Given the description of an element on the screen output the (x, y) to click on. 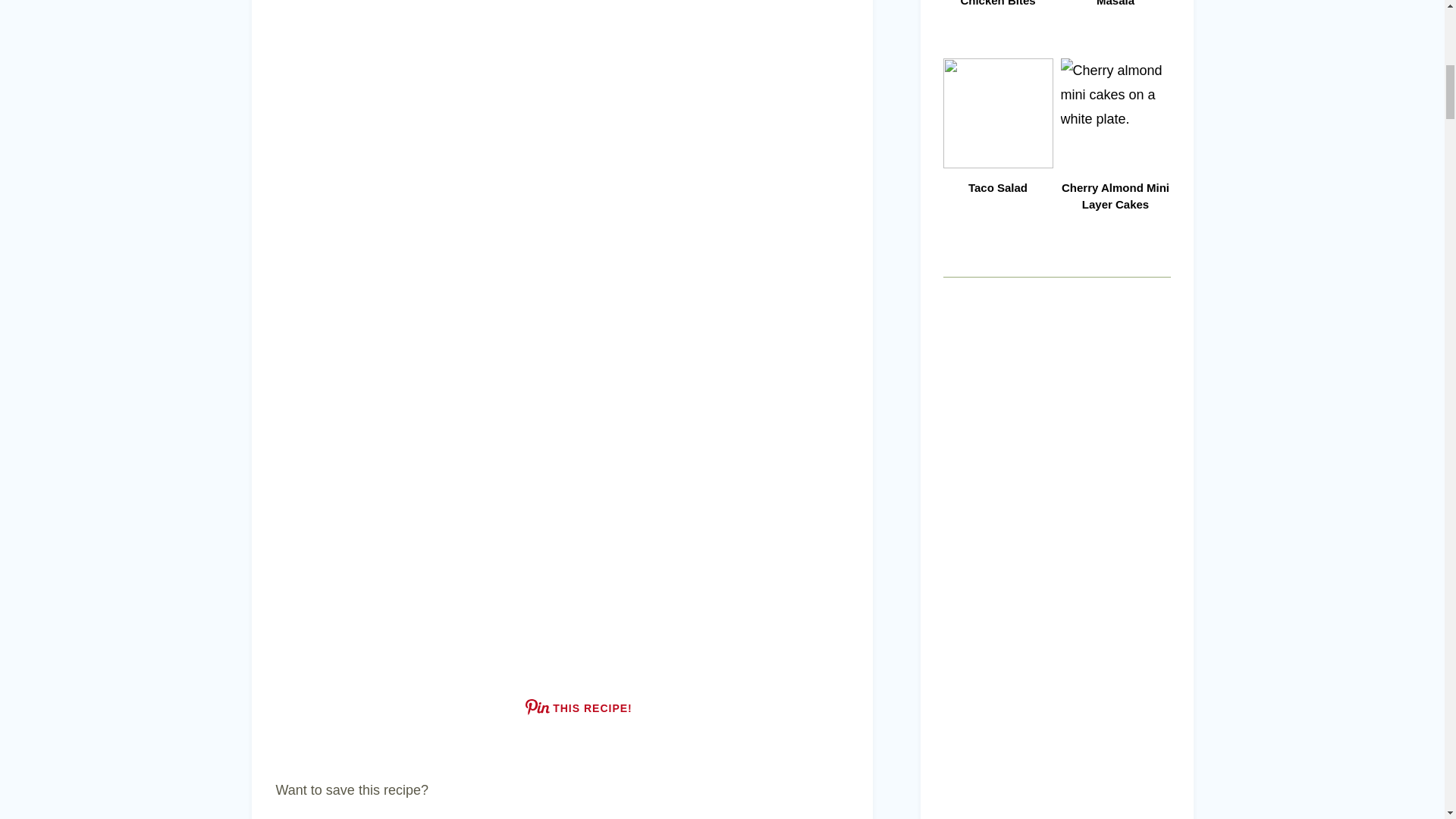
THIS RECIPE! (579, 706)
